Given the description of an element on the screen output the (x, y) to click on. 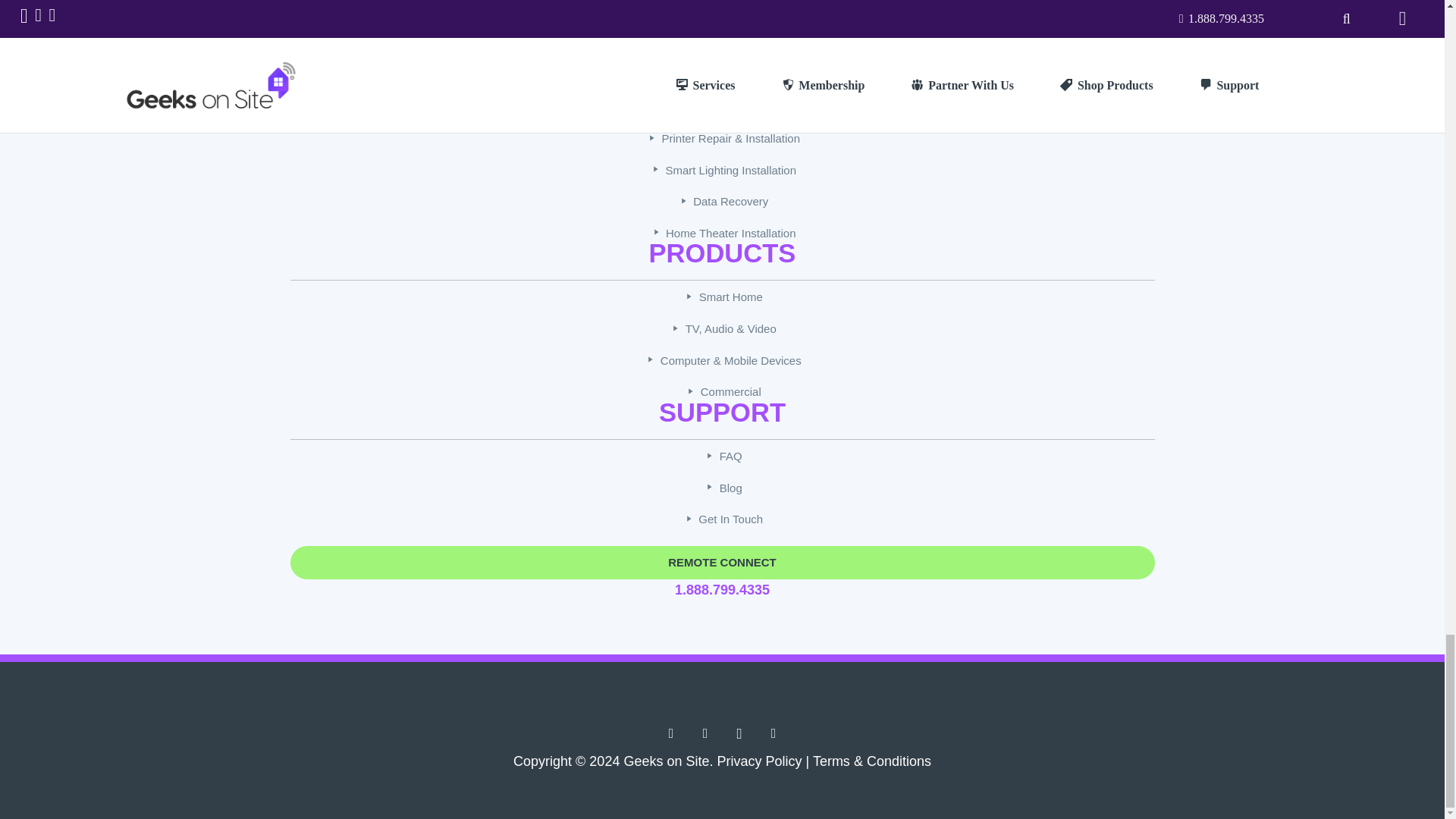
YouTube (773, 733)
Instagram (738, 733)
Facebook (670, 733)
LinkedIn (705, 733)
